Given the description of an element on the screen output the (x, y) to click on. 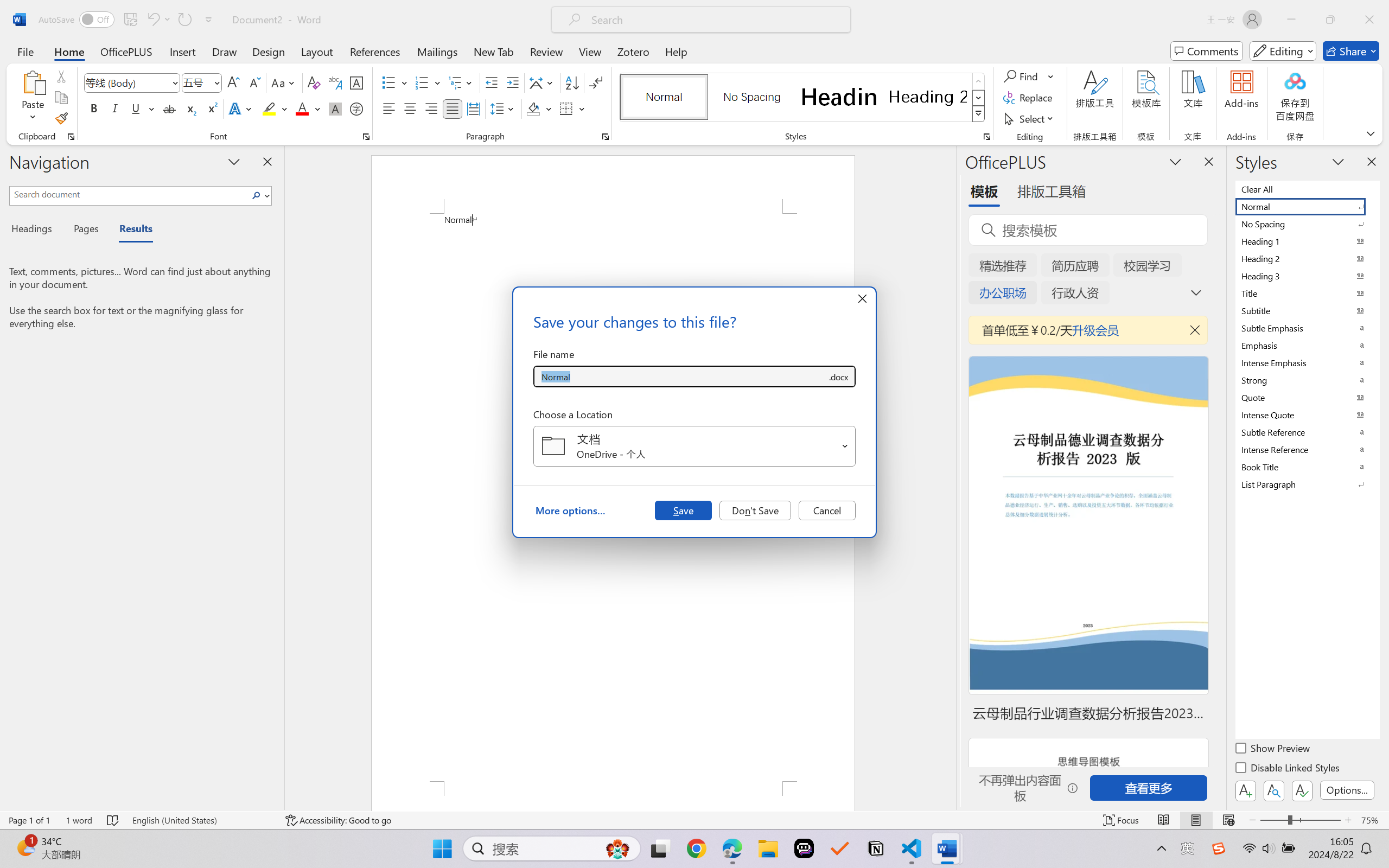
Strikethrough (169, 108)
Notion (875, 848)
Copy (60, 97)
Numbering (428, 82)
Clear All (1306, 188)
Paste (33, 81)
Paste (33, 97)
Headings (35, 229)
Cancel (826, 509)
Font Color (308, 108)
Insert (182, 51)
